Given the description of an element on the screen output the (x, y) to click on. 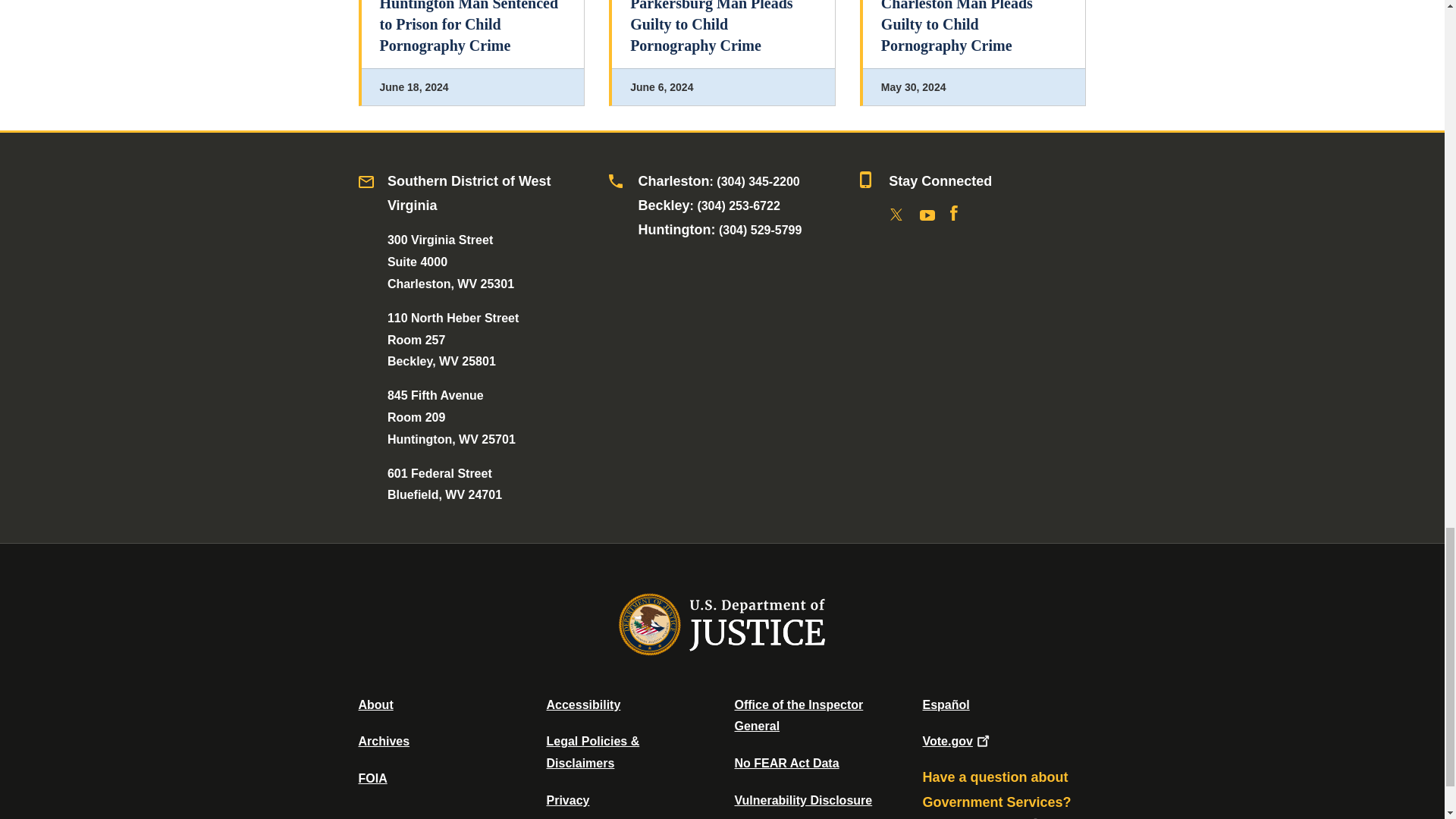
Office of Information Policy (372, 778)
Legal Policies and Disclaimers (592, 751)
Data Posted Pursuant To The No Fear Act (785, 762)
About DOJ (375, 704)
Accessibility Statement (583, 704)
Department of Justice Archive (383, 740)
